Given the description of an element on the screen output the (x, y) to click on. 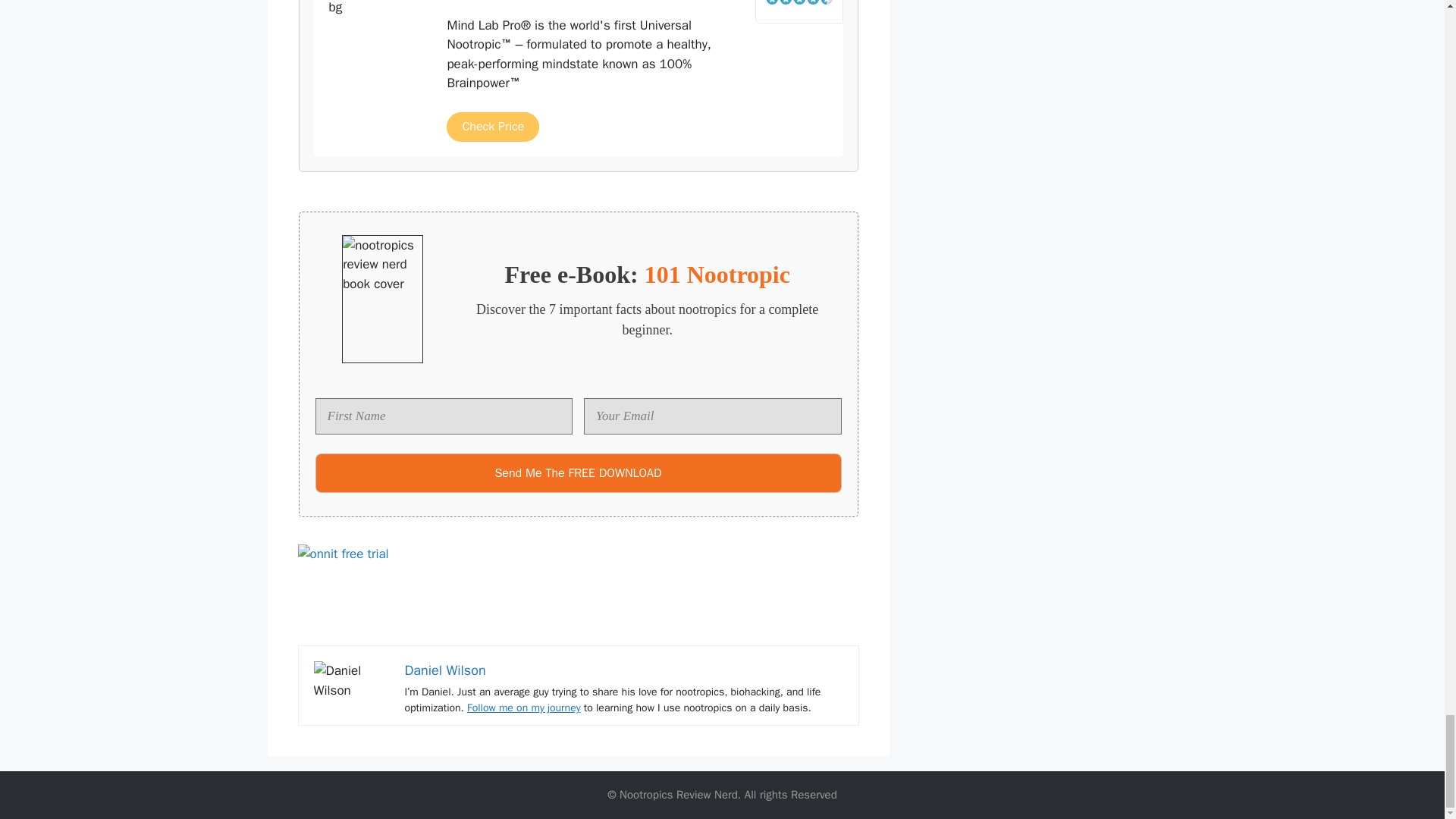
Check Price (492, 126)
Daniel Wilson (445, 669)
Send Me The FREE DOWNLOAD (578, 473)
mind lab pro no bg (380, 32)
onnit-free-trial (578, 578)
Follow me on my journey (523, 707)
